Given the description of an element on the screen output the (x, y) to click on. 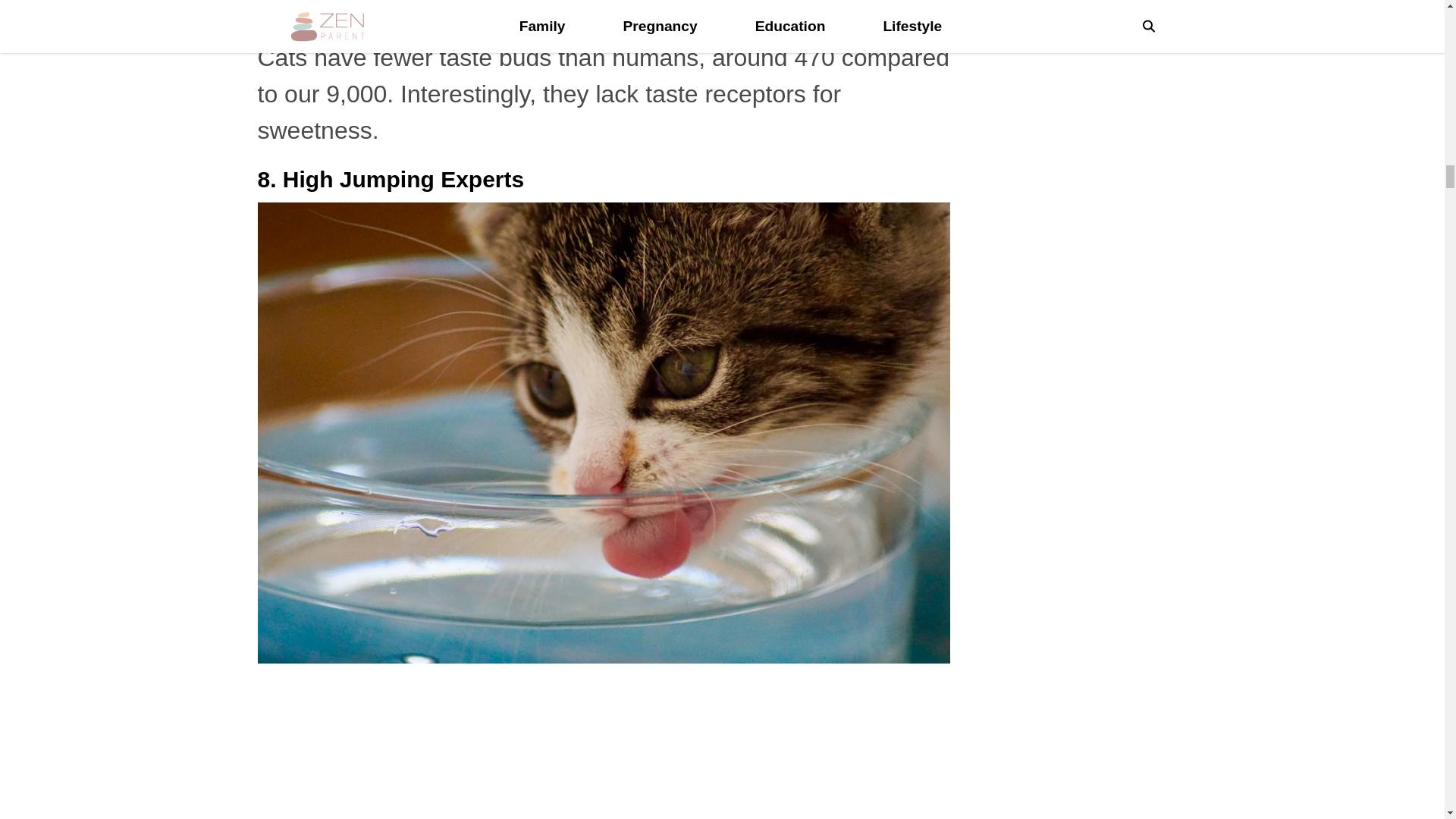
Photo by Abeer Zaki on Unsplash (604, 5)
